Given the description of an element on the screen output the (x, y) to click on. 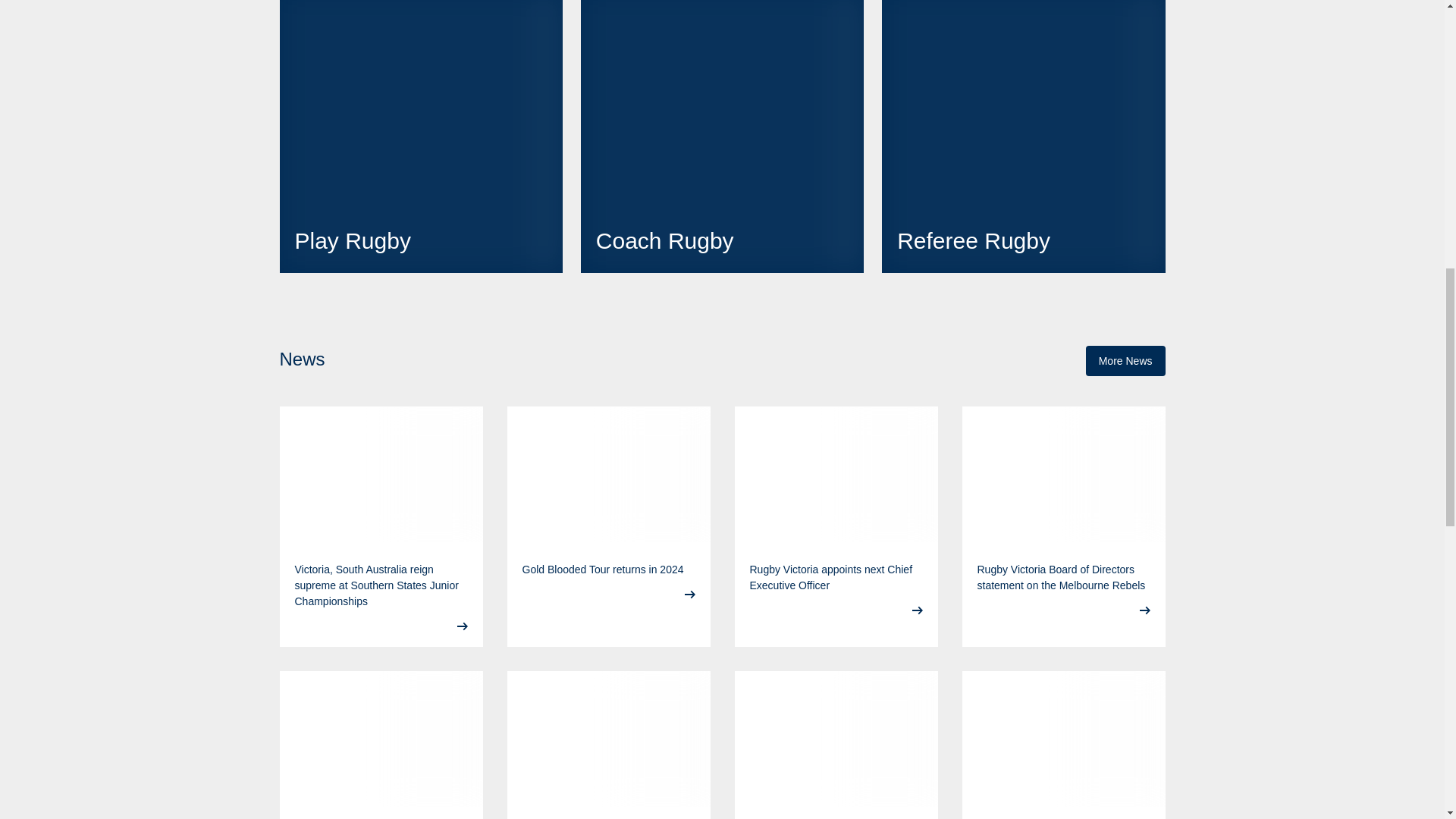
arrow (689, 593)
arrow (462, 625)
